Given the description of an element on the screen output the (x, y) to click on. 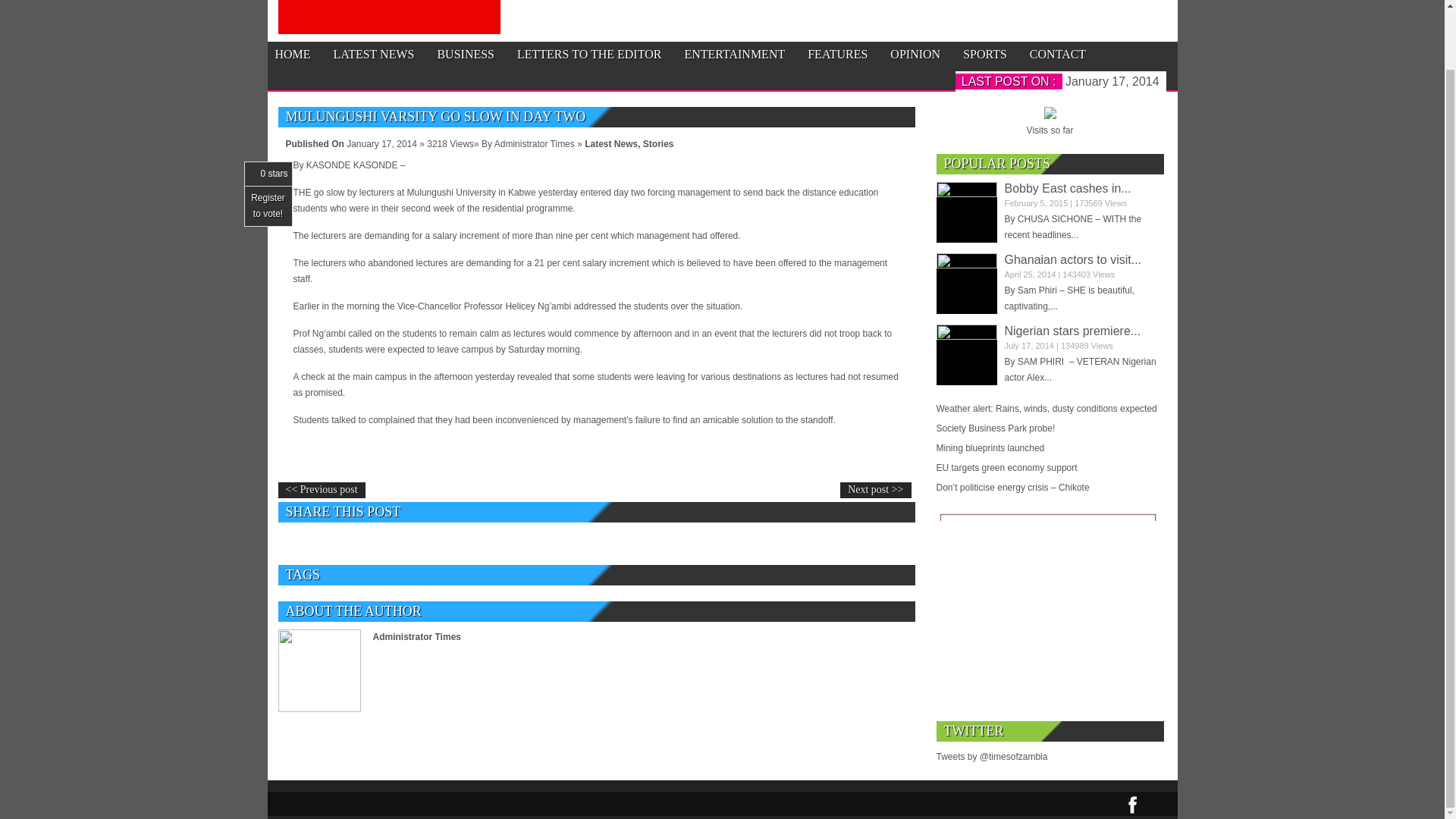
Latest News (611, 143)
HOME (292, 54)
EU targets green economy support (1049, 467)
Tumblr (453, 543)
Twitter (352, 543)
ENTERTAINMENT (734, 54)
Linkedin (502, 543)
Reddit (553, 543)
LETTERS TO THE EDITOR (588, 54)
BUSINESS (465, 54)
